Given the description of an element on the screen output the (x, y) to click on. 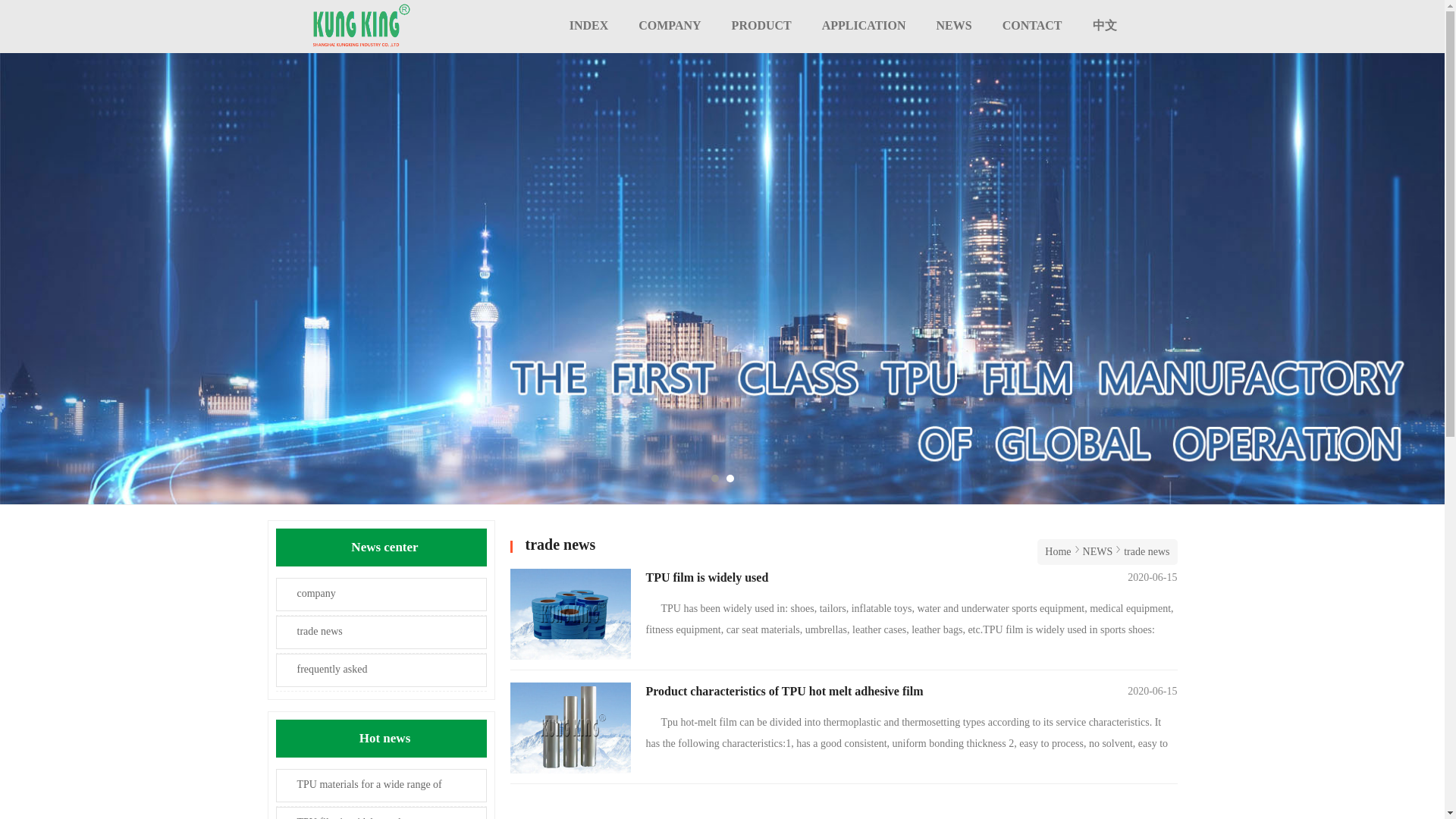
INDEX (589, 25)
Home (1057, 551)
company (381, 594)
trade news (1146, 551)
CONTACT (1032, 25)
TPU film is widely used (381, 812)
frequently asked (381, 670)
2 (729, 478)
COMPANY (669, 25)
PRODUCT (761, 25)
NEWS (954, 25)
APPLICATION (863, 25)
trade news (381, 632)
1 (715, 478)
